Given the description of an element on the screen output the (x, y) to click on. 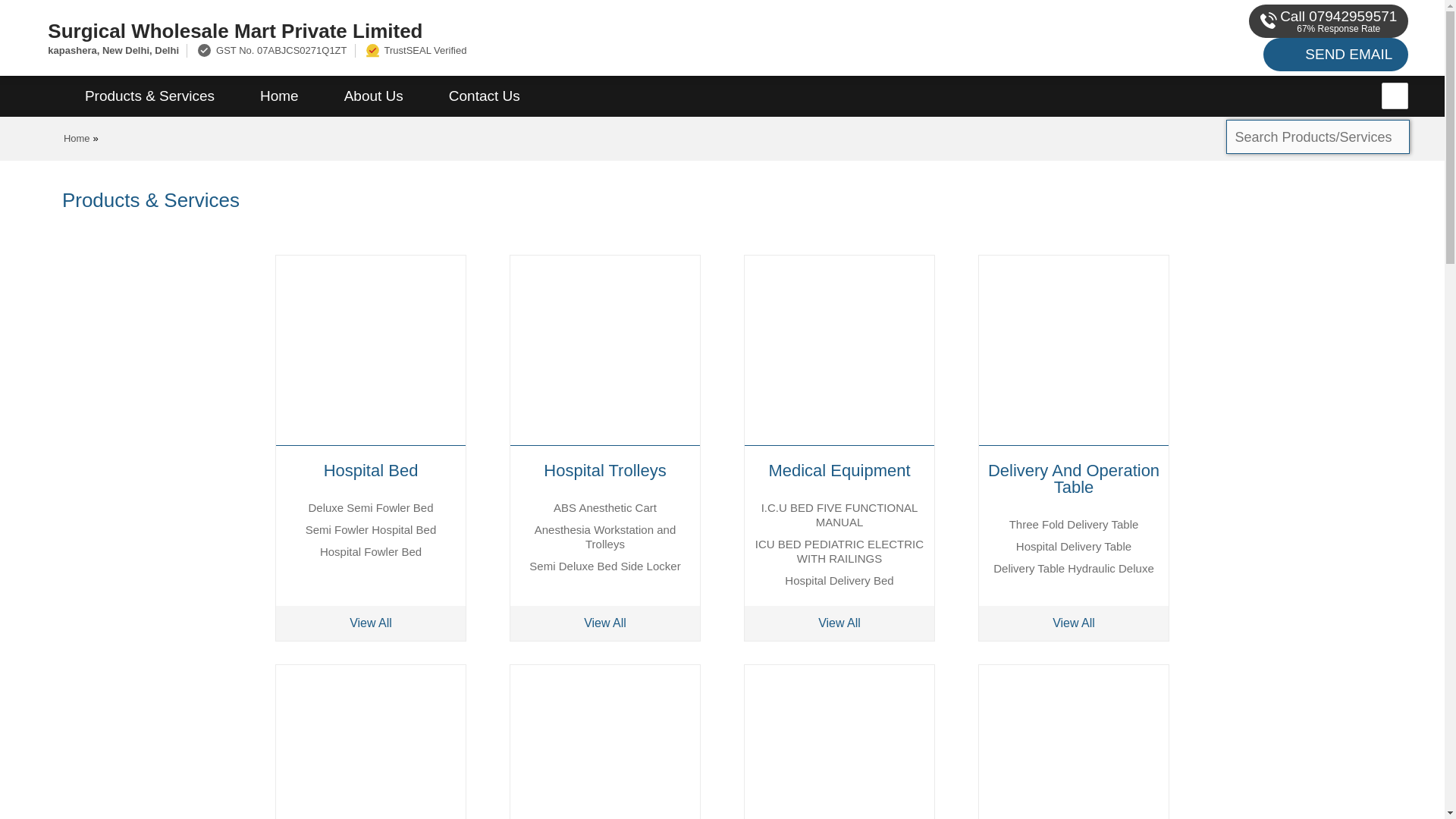
I.C.U BED FIVE FUNCTIONAL MANUAL (839, 514)
View All (605, 623)
Semi Deluxe Bed Side Locker (604, 565)
ICU BED PEDIATRIC ELECTRIC WITH RAILINGS (839, 551)
Hospital Trolleys (605, 470)
Home (77, 138)
Contact Us (484, 96)
Hospital Fowler Bed (371, 551)
View All (370, 623)
Home (279, 96)
Hospital Bed (370, 470)
Surgical Wholesale Mart Private Limited (485, 31)
About Us (373, 96)
Deluxe Semi Fowler Bed (369, 507)
Semi Fowler Hospital Bed (370, 529)
